Given the description of an element on the screen output the (x, y) to click on. 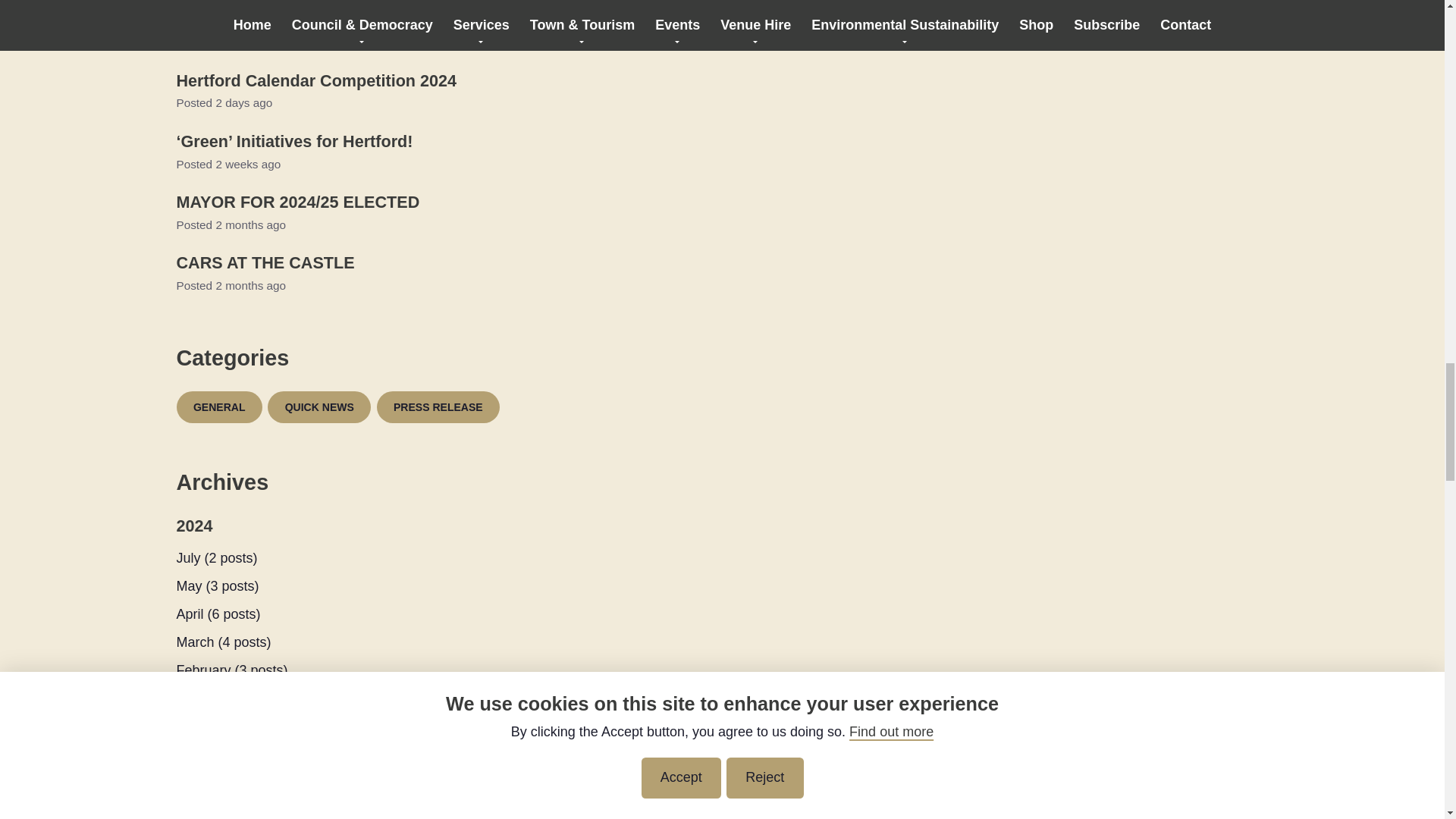
CARS AT THE CASTLE (264, 262)
Hertford Calendar Competition 2024 (316, 80)
GENERAL (219, 407)
PRESS RELEASE (437, 407)
QUICK NEWS (319, 407)
